Given the description of an element on the screen output the (x, y) to click on. 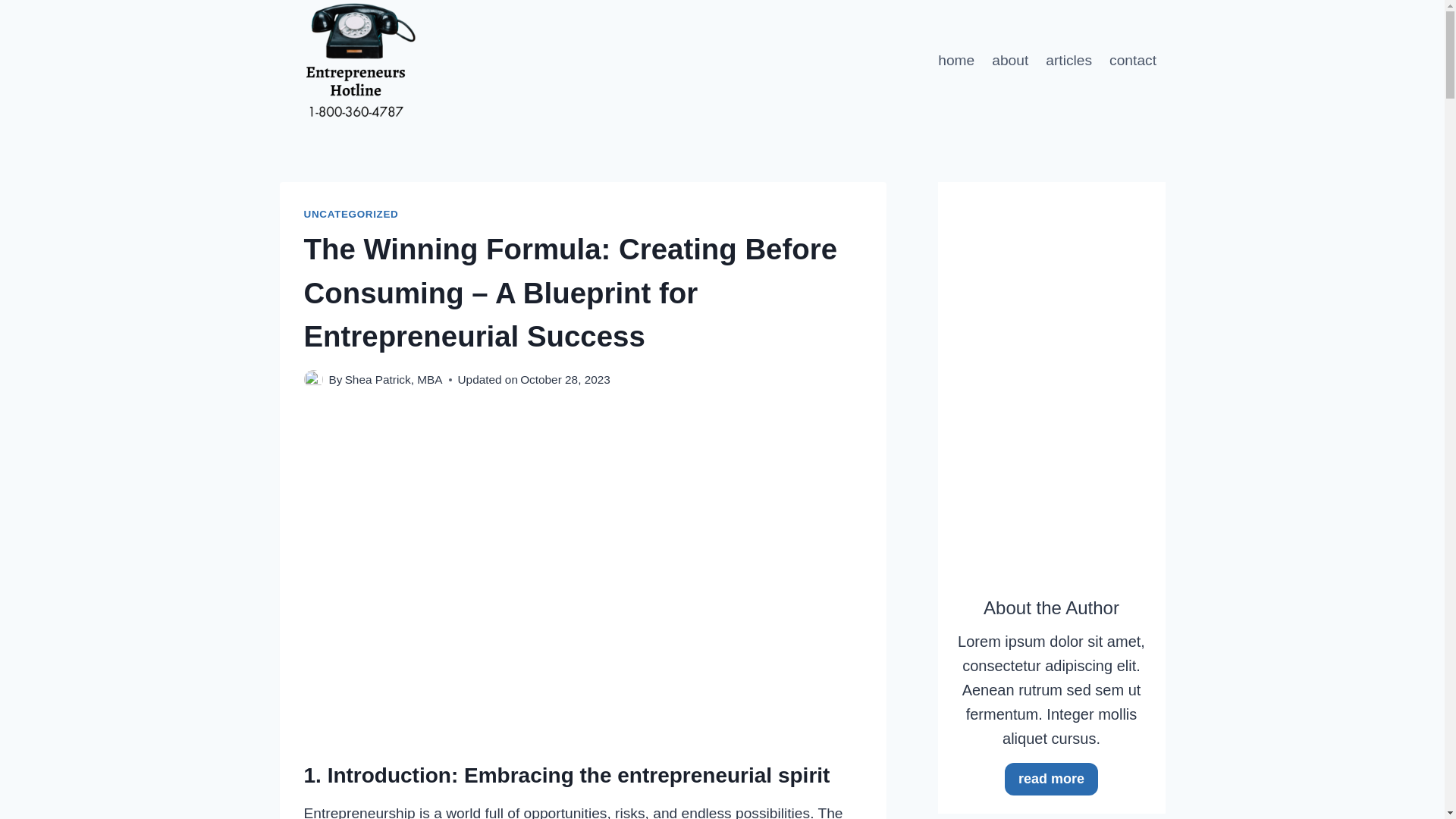
about (1010, 60)
articles (1068, 60)
home (957, 60)
contact (1133, 60)
UNCATEGORIZED (349, 214)
